Given the description of an element on the screen output the (x, y) to click on. 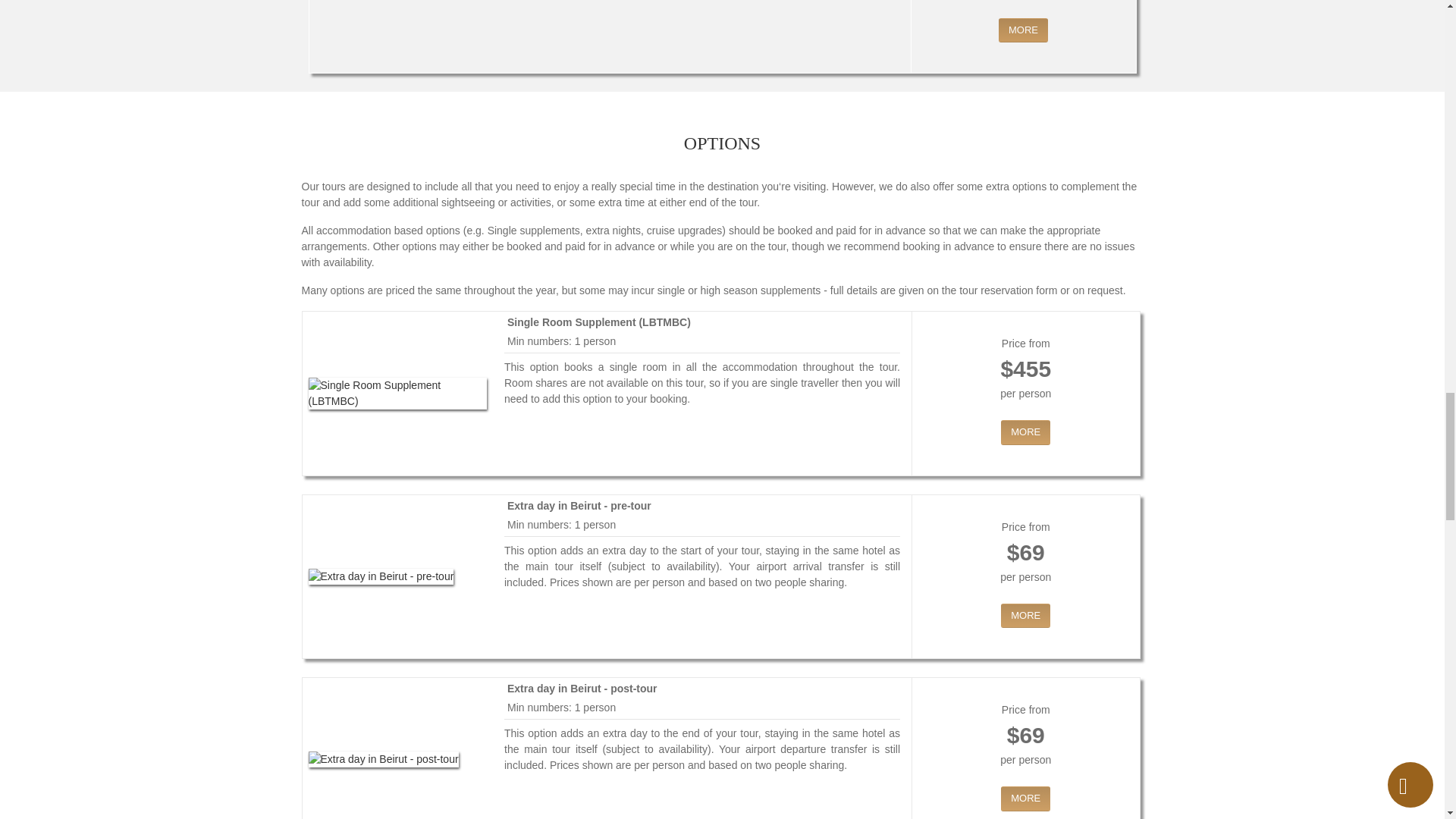
More  (1023, 30)
Albergo Hotel website  (978, 2)
More  (1025, 432)
Albergo Hotel trip advisor rating  (1067, 2)
More  (1025, 798)
More  (1025, 615)
